Given the description of an element on the screen output the (x, y) to click on. 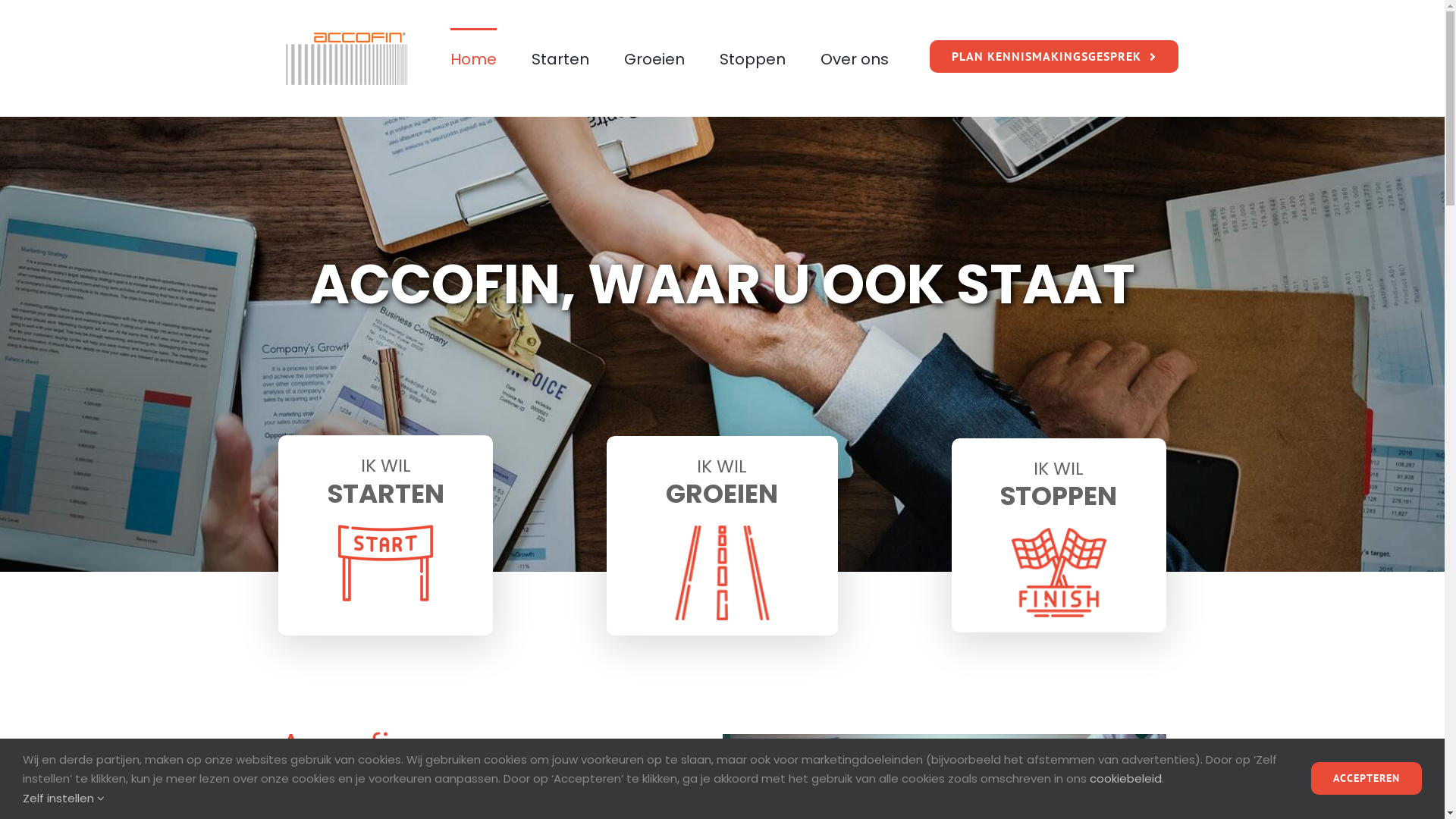
ACCEPTEREN Element type: text (1366, 778)
Groeien Element type: text (654, 58)
Starten Element type: text (560, 58)
starten Element type: hover (721, 572)
Stoppen Element type: text (752, 58)
starten Element type: hover (385, 562)
PLAN KENNISMAKINGSGESPREK Element type: text (1053, 56)
Over ons Element type: text (854, 58)
Home Element type: text (473, 58)
Zelf instellen Element type: text (63, 798)
starten Element type: hover (1058, 572)
cookiebeleid Element type: text (1125, 778)
